Given the description of an element on the screen output the (x, y) to click on. 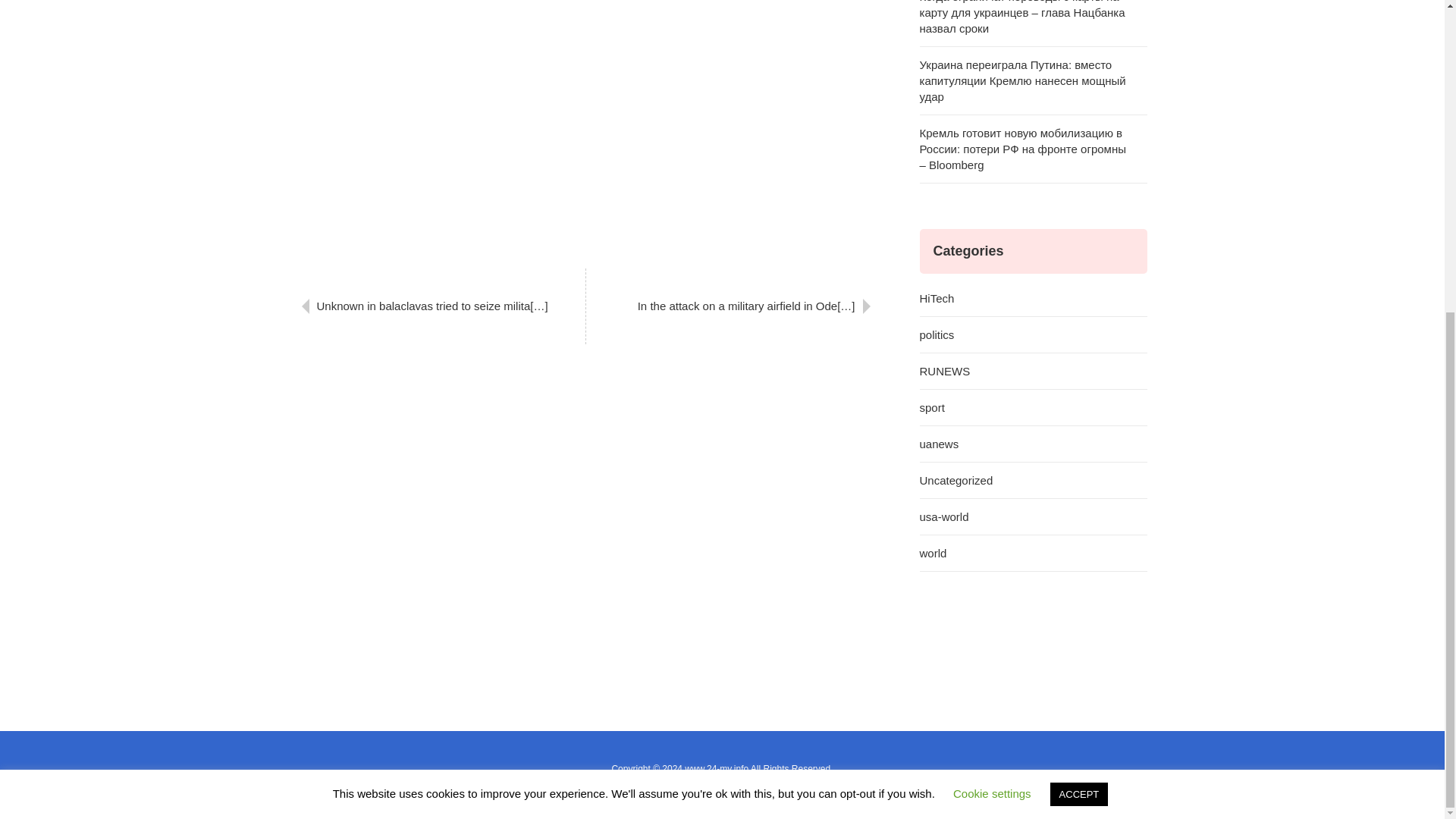
ACCEPT (1078, 296)
world (1032, 553)
RUNEWS (1032, 370)
Uncategorized (1032, 480)
politics (1032, 334)
Cookie settings (991, 295)
uanews (1032, 443)
Advertisement (585, 128)
usa-world (1032, 516)
HiTech (1032, 298)
